Given the description of an element on the screen output the (x, y) to click on. 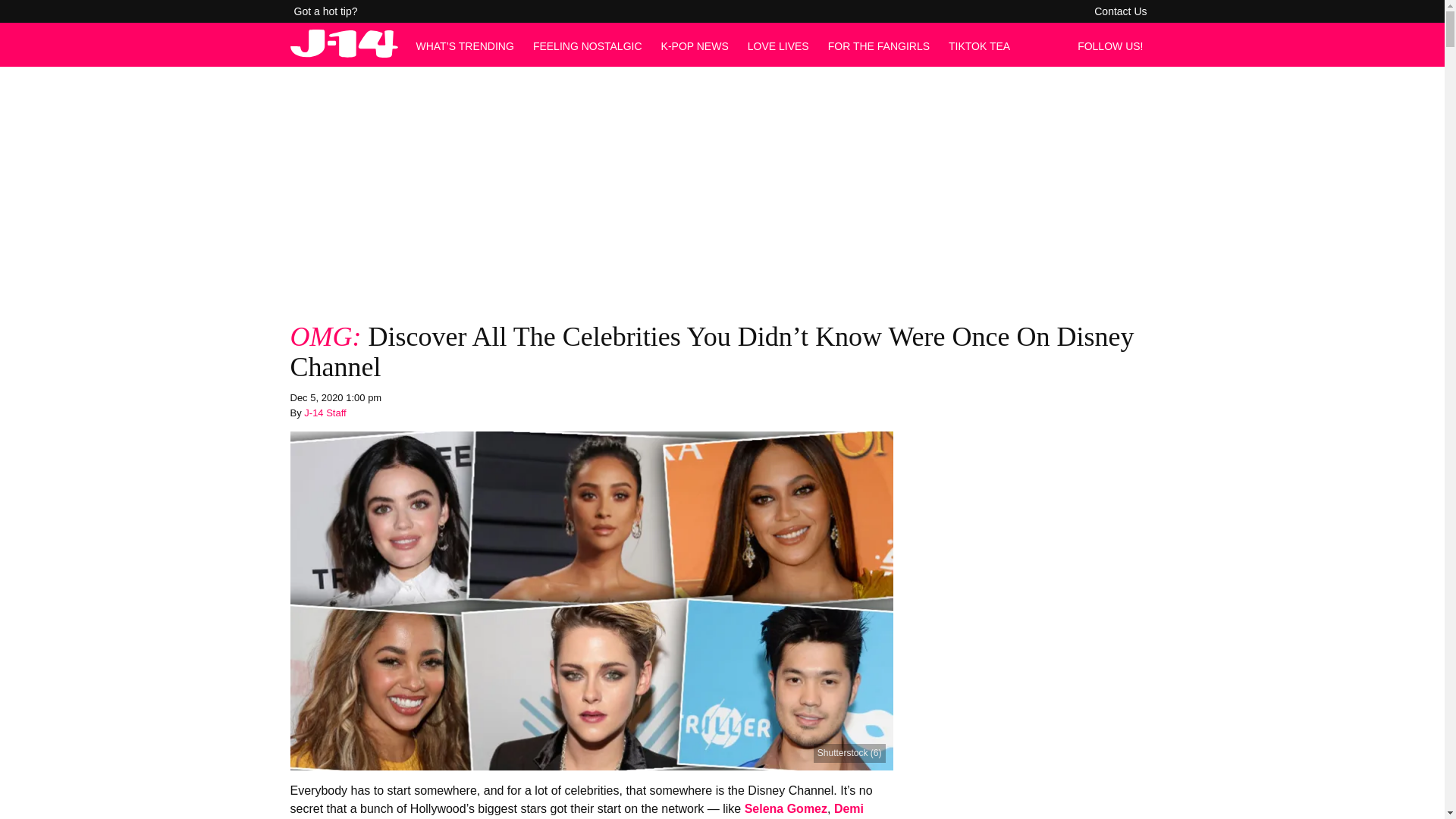
J-14 Staff (325, 412)
LOVE LIVES (778, 46)
Posts by J-14 Staff (325, 412)
FOLLOW US! (1114, 45)
Contact Us (1120, 11)
FOR THE FANGIRLS (879, 46)
K-POP NEWS (695, 46)
Selena Gomez (785, 808)
Demi Lovato (576, 810)
Home (343, 52)
TIKTOK TEA (979, 46)
FEELING NOSTALGIC (587, 46)
Got a hot tip? (325, 11)
